Given the description of an element on the screen output the (x, y) to click on. 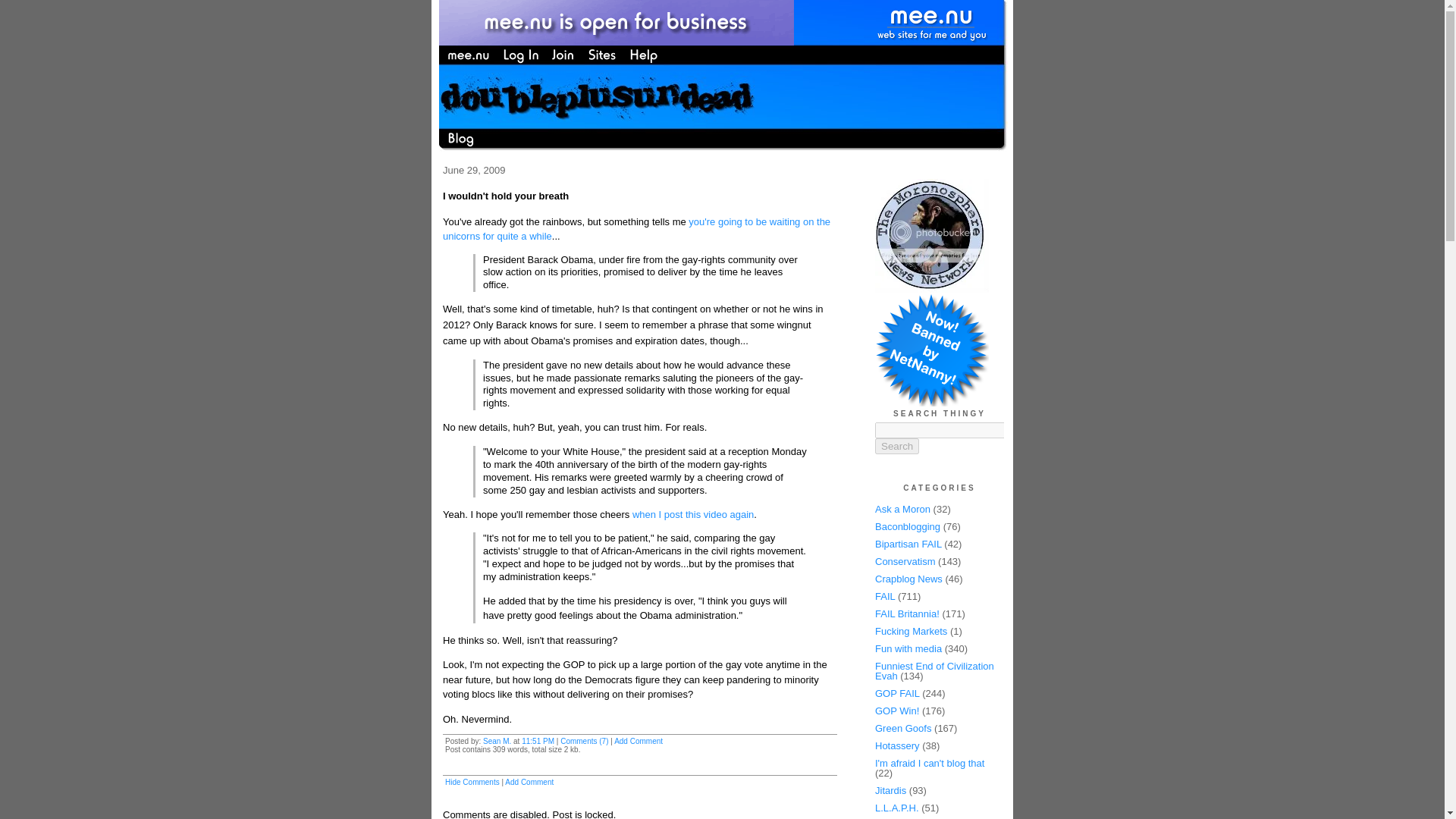
Funniest End of Civilization Evah (934, 670)
Search (896, 446)
Hotassery (897, 745)
11:51 PM (537, 741)
Fun with media (908, 648)
Bipartisan FAIL (908, 543)
you're going to be waiting on the unicorns for quite a while (635, 229)
Crapblog News (908, 578)
Fucking Markets (911, 631)
Add Comment (638, 741)
